Given the description of an element on the screen output the (x, y) to click on. 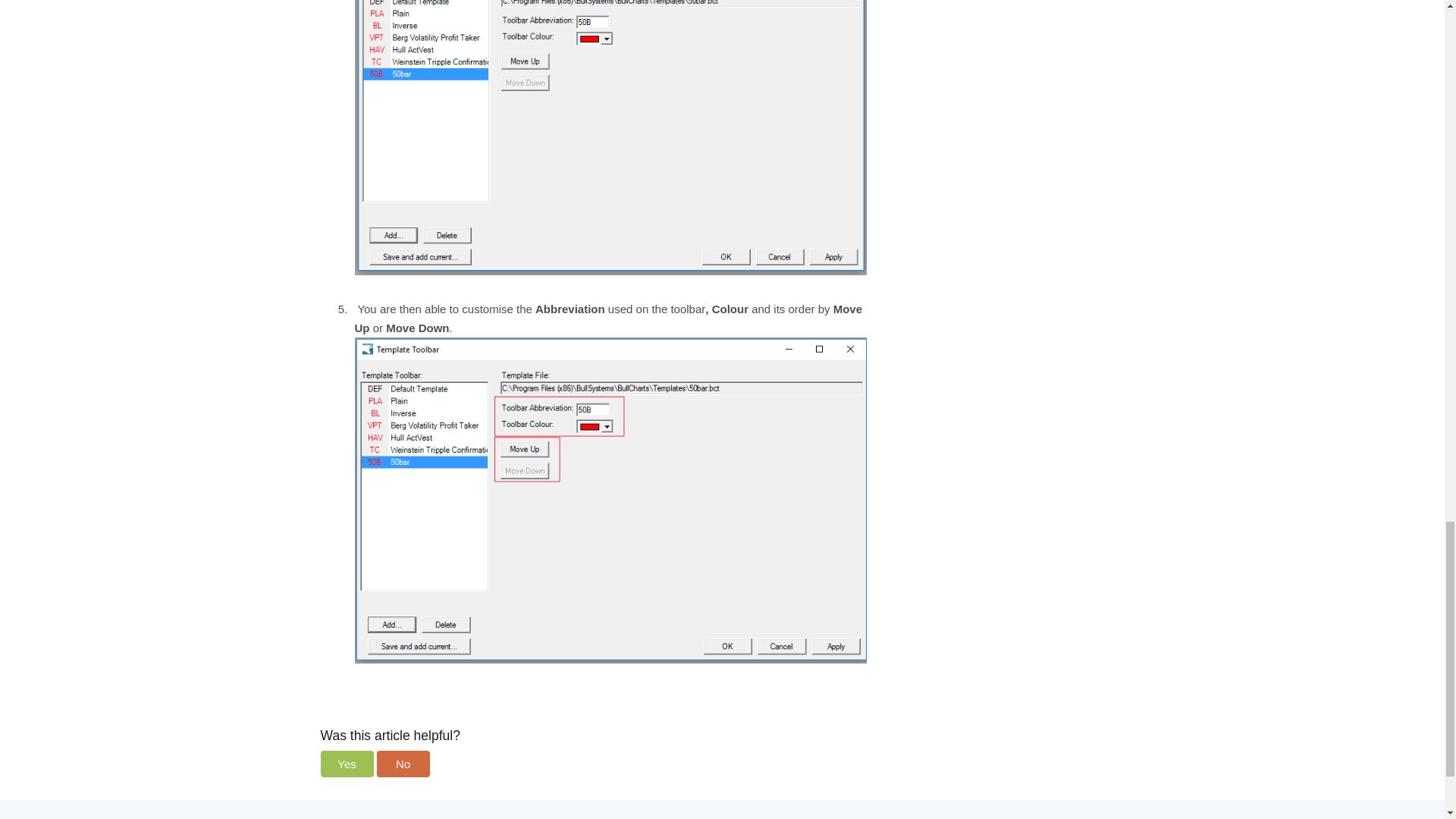
Yes (346, 764)
No (403, 764)
